Given the description of an element on the screen output the (x, y) to click on. 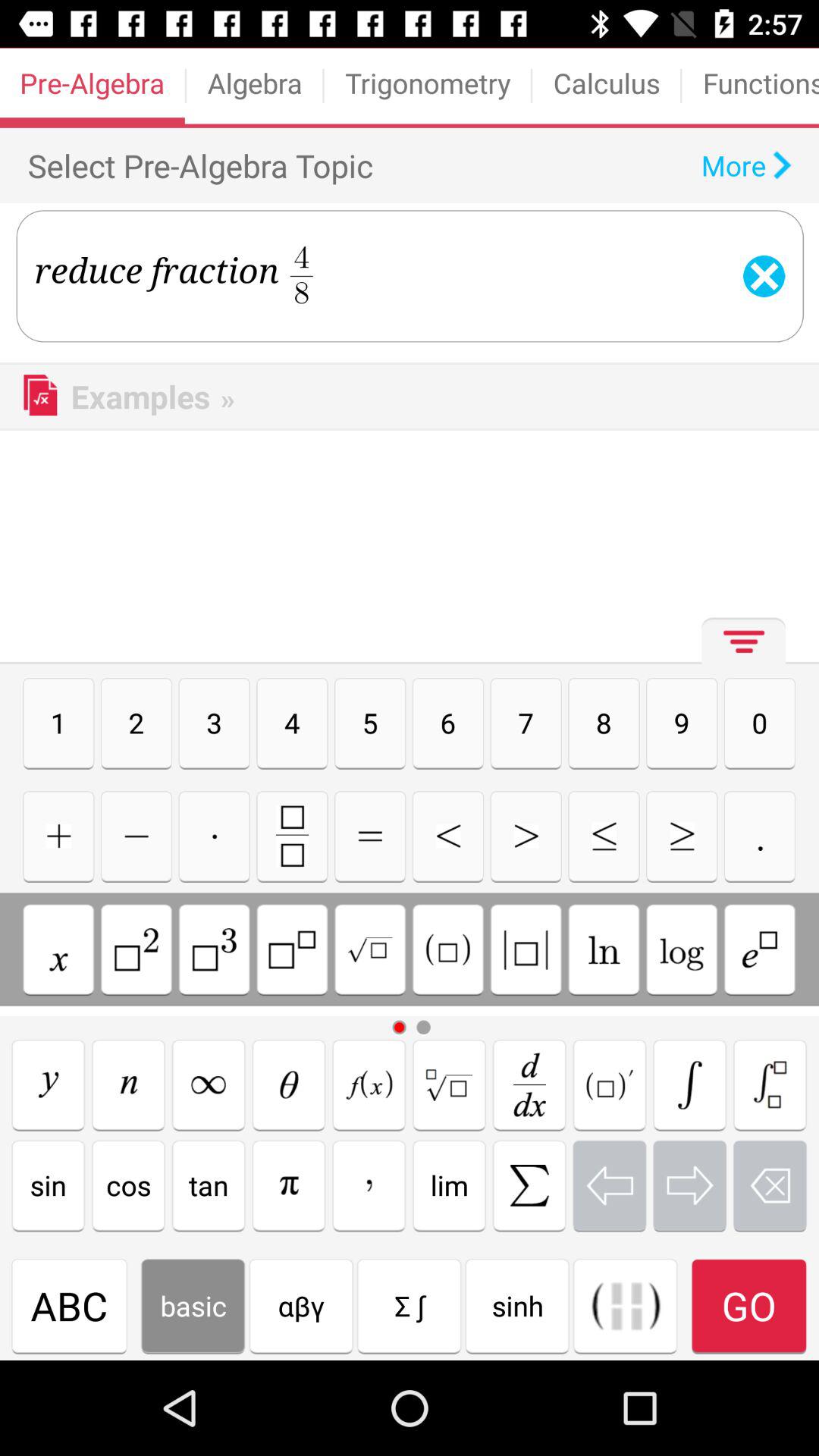
screen page (288, 1084)
